Given the description of an element on the screen output the (x, y) to click on. 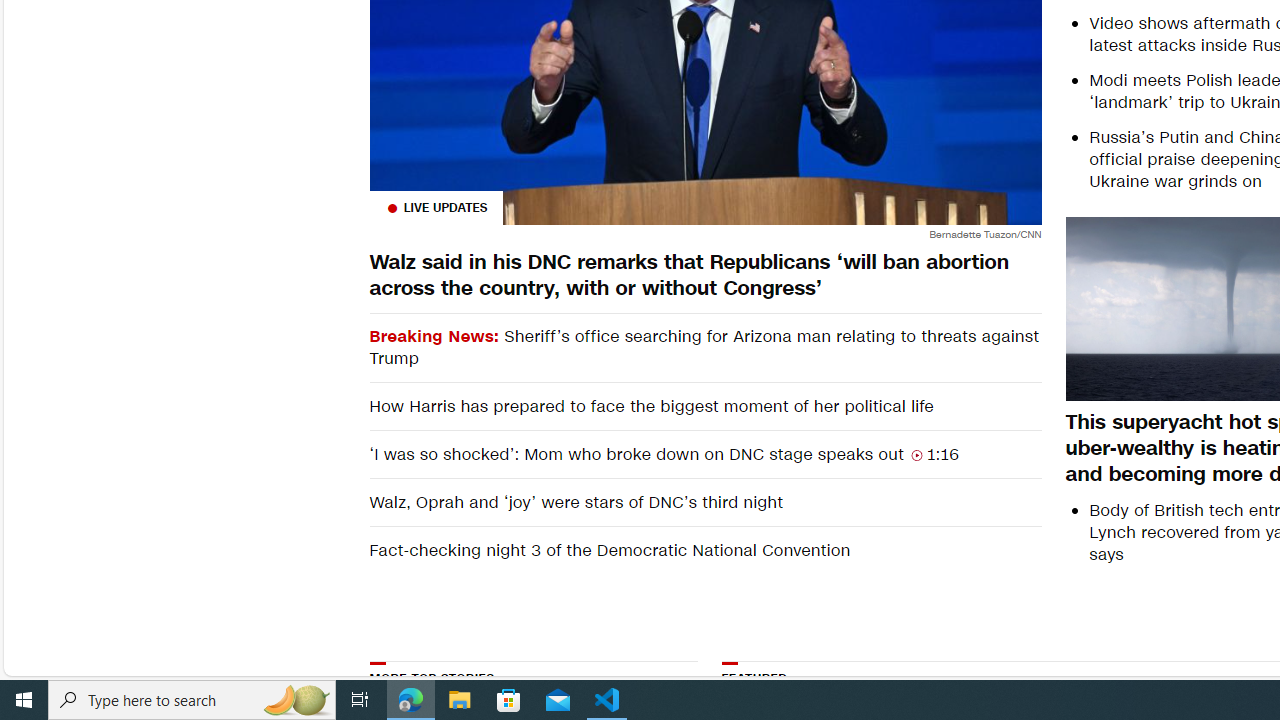
Search highlights icon opens search home window (295, 699)
